Given the description of an element on the screen output the (x, y) to click on. 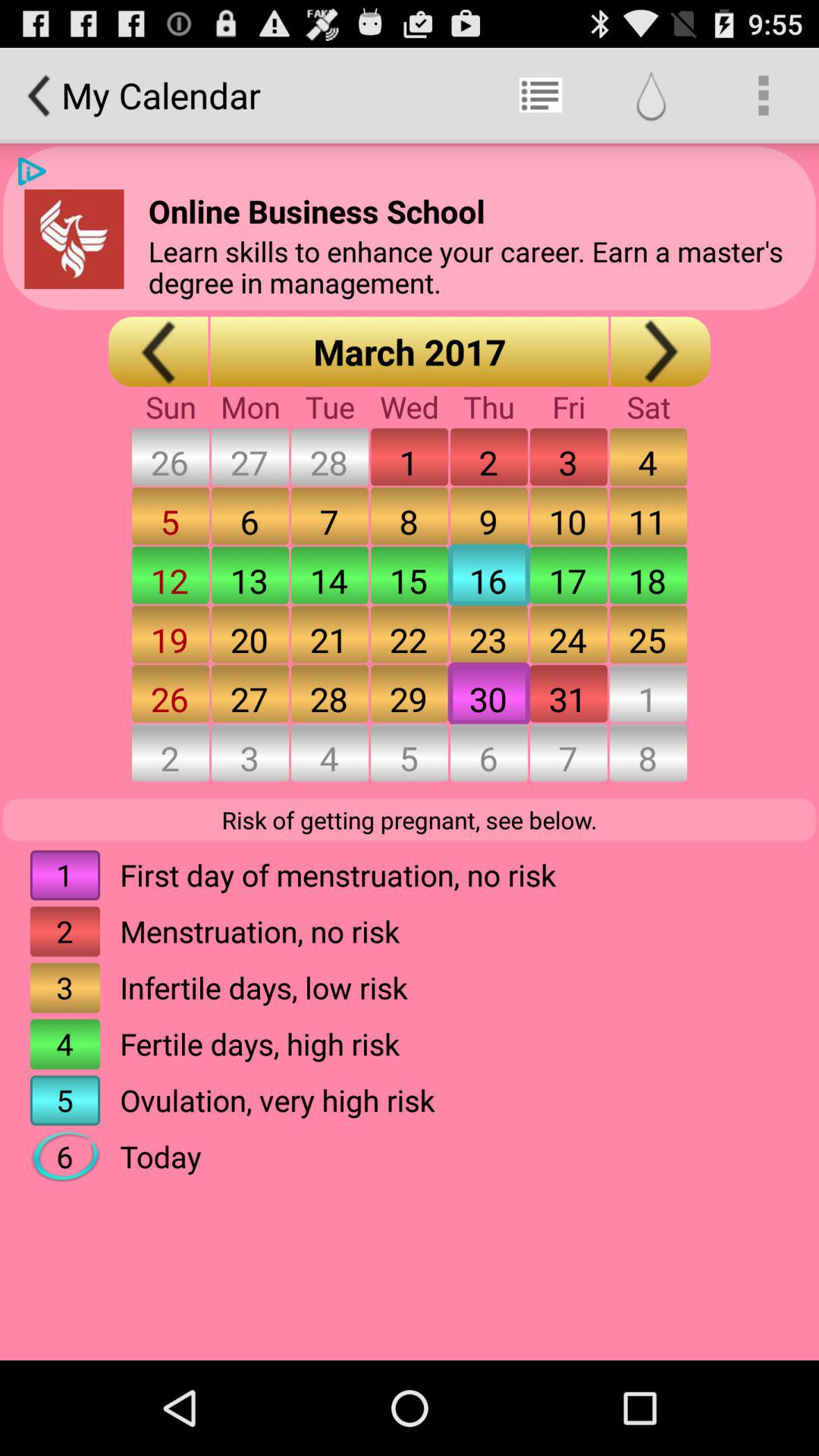
go to previous month (158, 351)
